Given the description of an element on the screen output the (x, y) to click on. 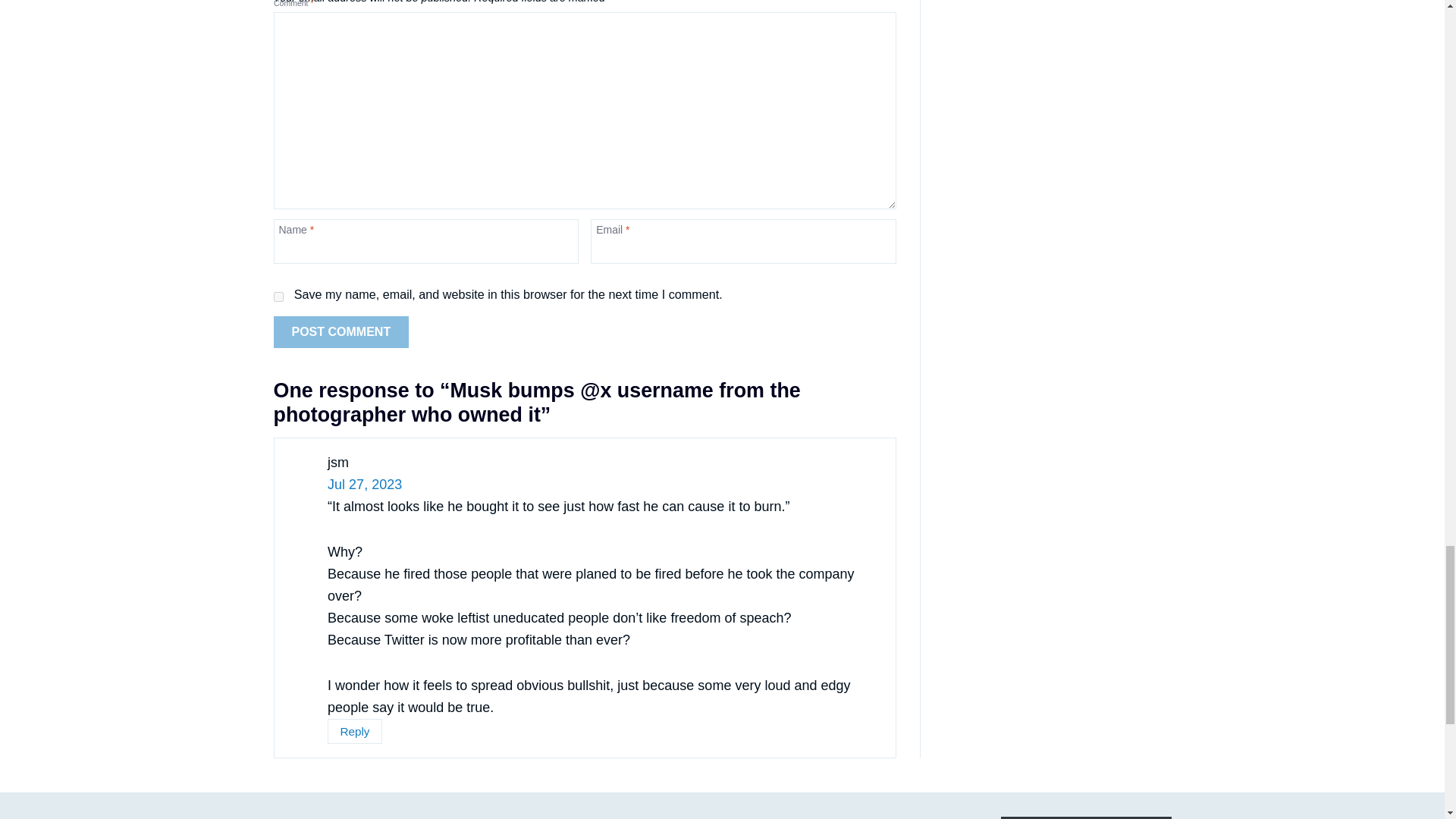
yes (277, 296)
Post Comment (341, 332)
